Given the description of an element on the screen output the (x, y) to click on. 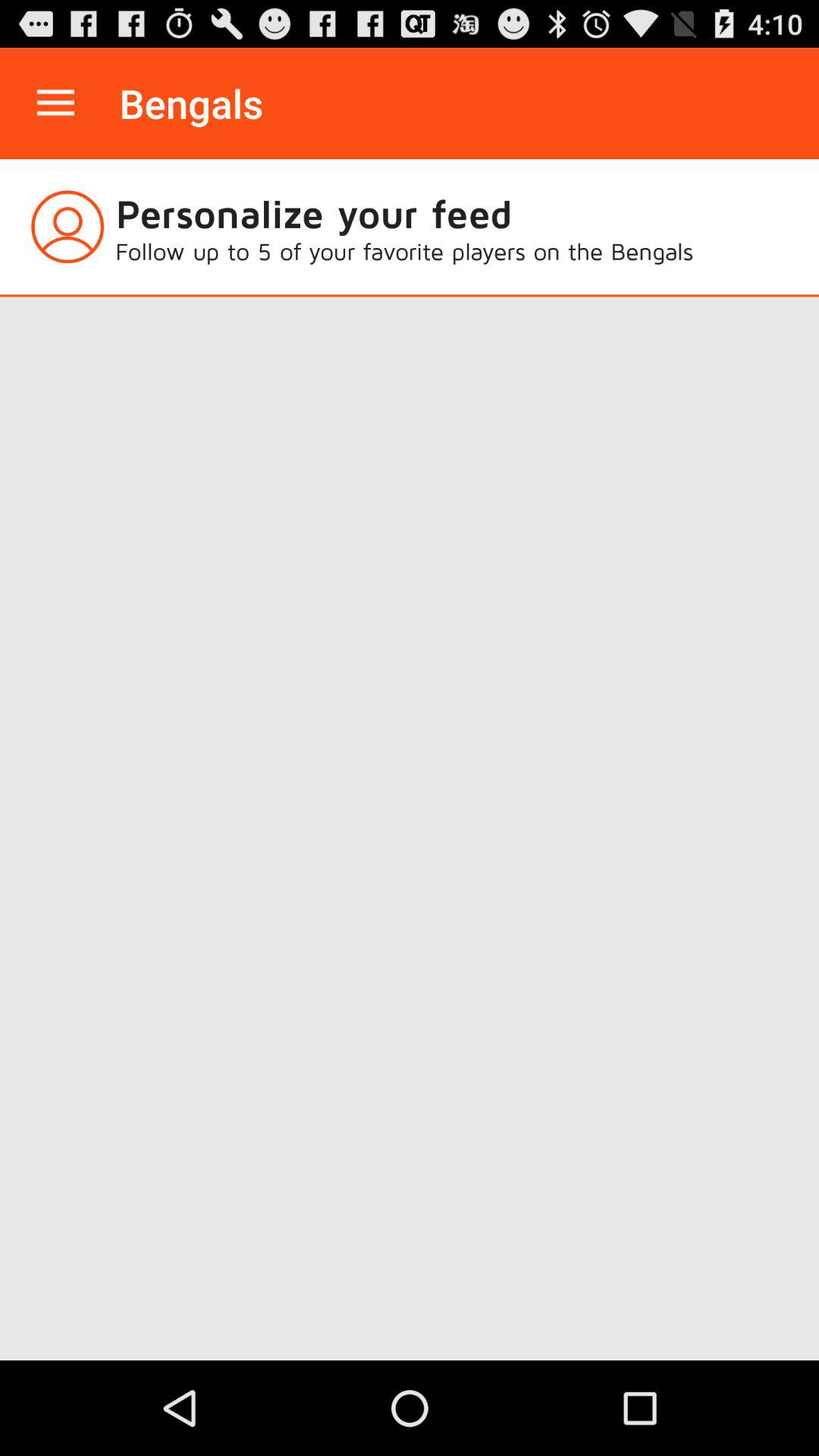
turn off the item to the left of the bengals (55, 103)
